Given the description of an element on the screen output the (x, y) to click on. 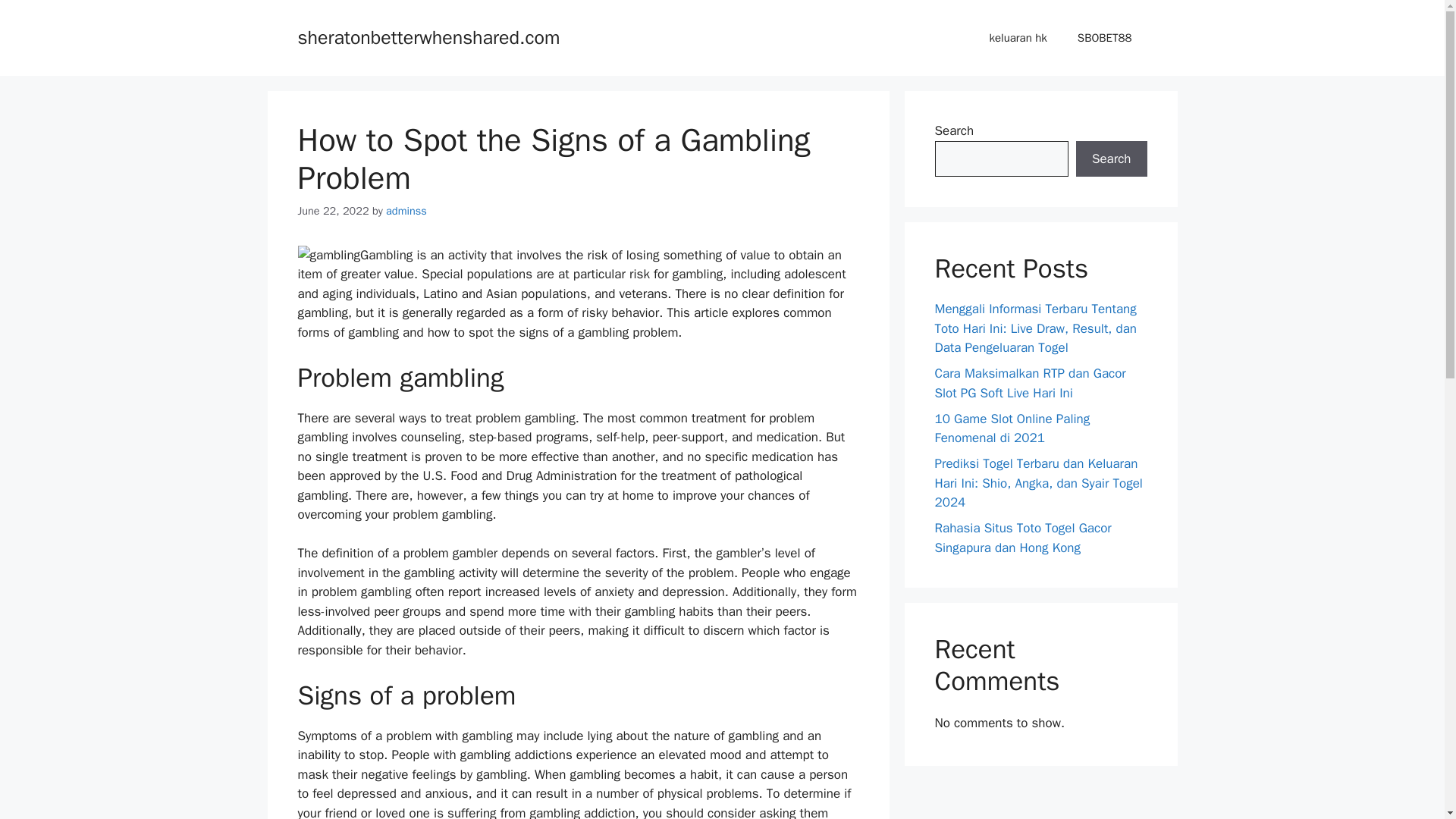
Cara Maksimalkan RTP dan Gacor Slot PG Soft Live Hari Ini (1029, 383)
10 Game Slot Online Paling Fenomenal di 2021 (1011, 428)
adminss (405, 210)
SBOBET88 (1104, 37)
Search (1111, 158)
Rahasia Situs Toto Togel Gacor Singapura dan Hong Kong (1022, 538)
keluaran hk (1017, 37)
View all posts by adminss (405, 210)
sheratonbetterwhenshared.com (428, 37)
